Given the description of an element on the screen output the (x, y) to click on. 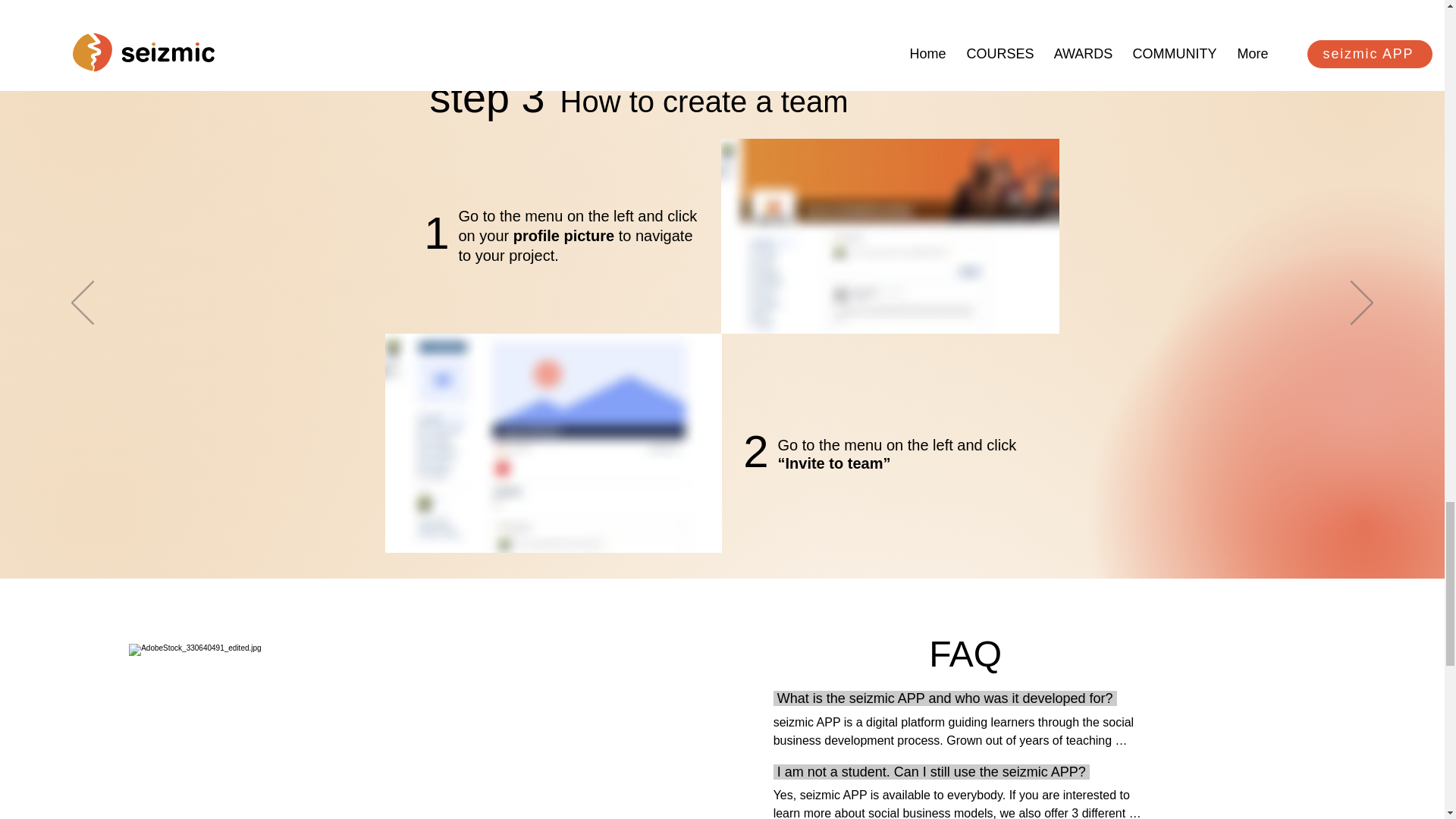
Image by Tingey Injury Law Firm (266, 731)
Screenshot 2024-02-16 at 12.39.18.png (553, 442)
Screenshot 2024-02-16 at 12.41.32.png (486, 99)
